Given the description of an element on the screen output the (x, y) to click on. 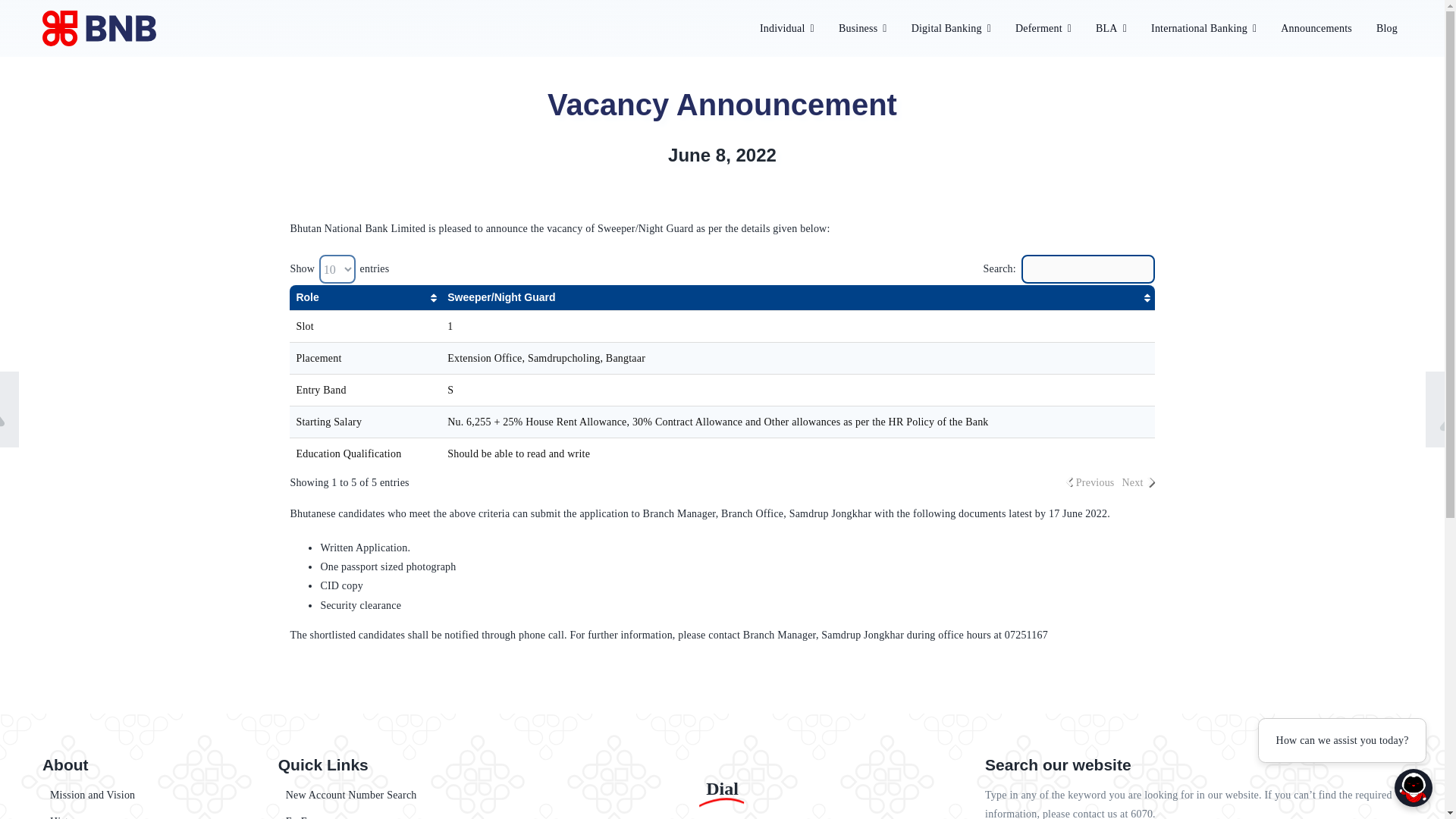
Individual (786, 28)
Business (862, 28)
